Given the description of an element on the screen output the (x, y) to click on. 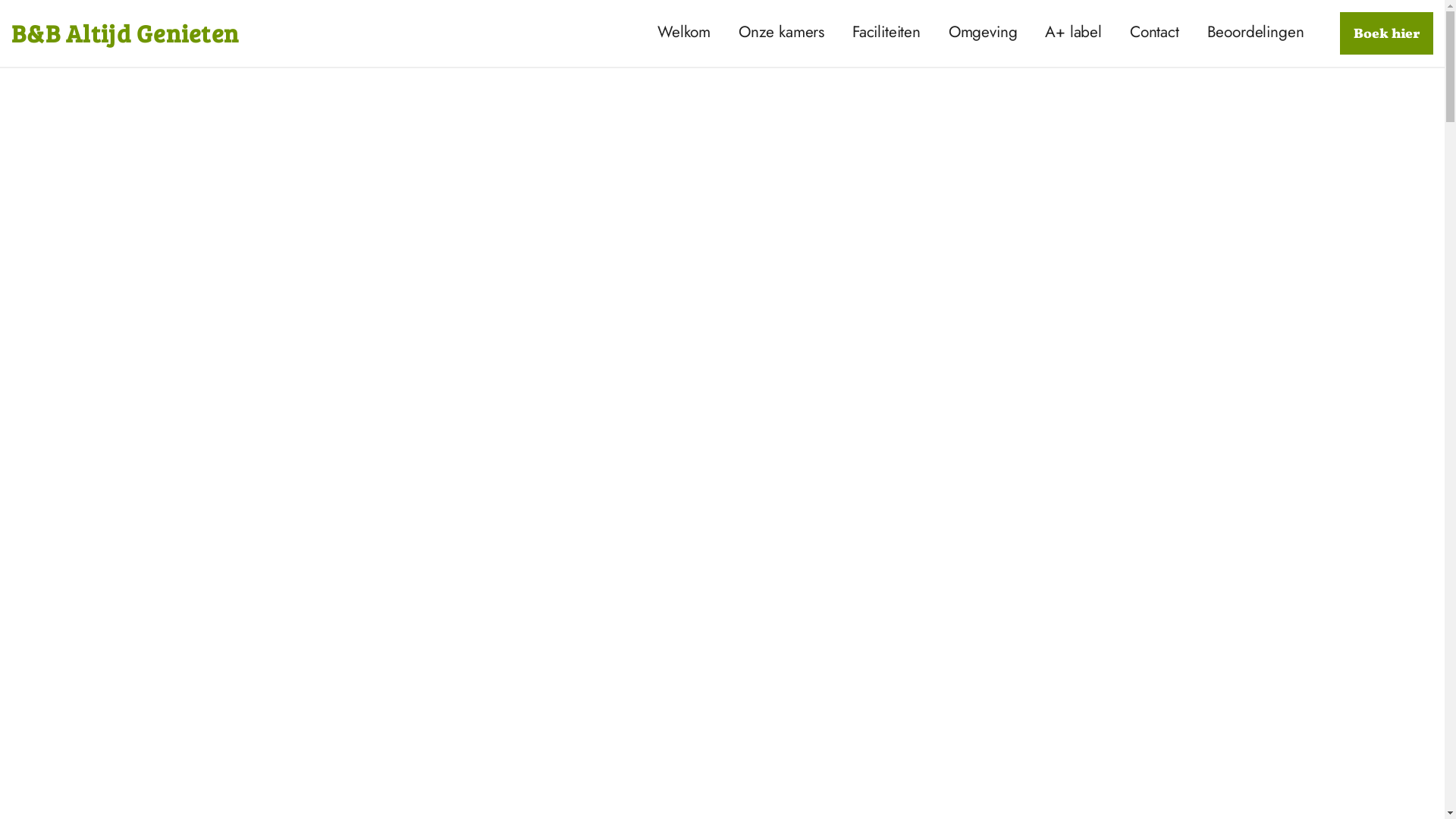
Onze kamers Element type: text (781, 31)
A+ label Element type: text (1072, 31)
Omgeving Element type: text (982, 31)
Welkom Element type: text (683, 31)
Boek hier Element type: text (1386, 33)
Faciliteiten Element type: text (886, 31)
B&B Altijd Genieten Element type: text (124, 33)
Beoordelingen Element type: text (1255, 31)
Contact Element type: text (1154, 31)
